Given the description of an element on the screen output the (x, y) to click on. 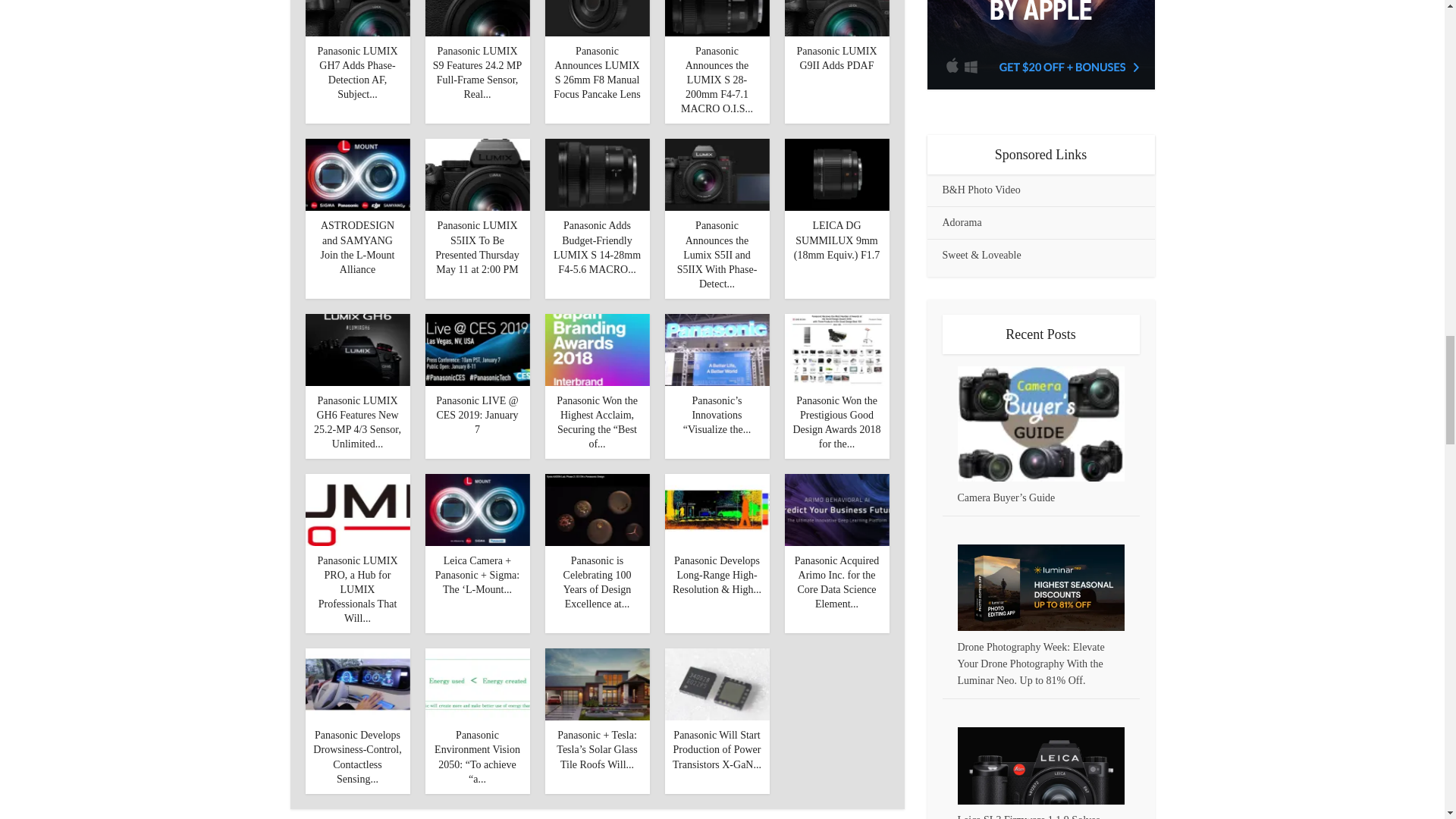
Panasonic LUMIX GH7 Adds Phase-Detection AF, Subject... (357, 72)
